Given the description of an element on the screen output the (x, y) to click on. 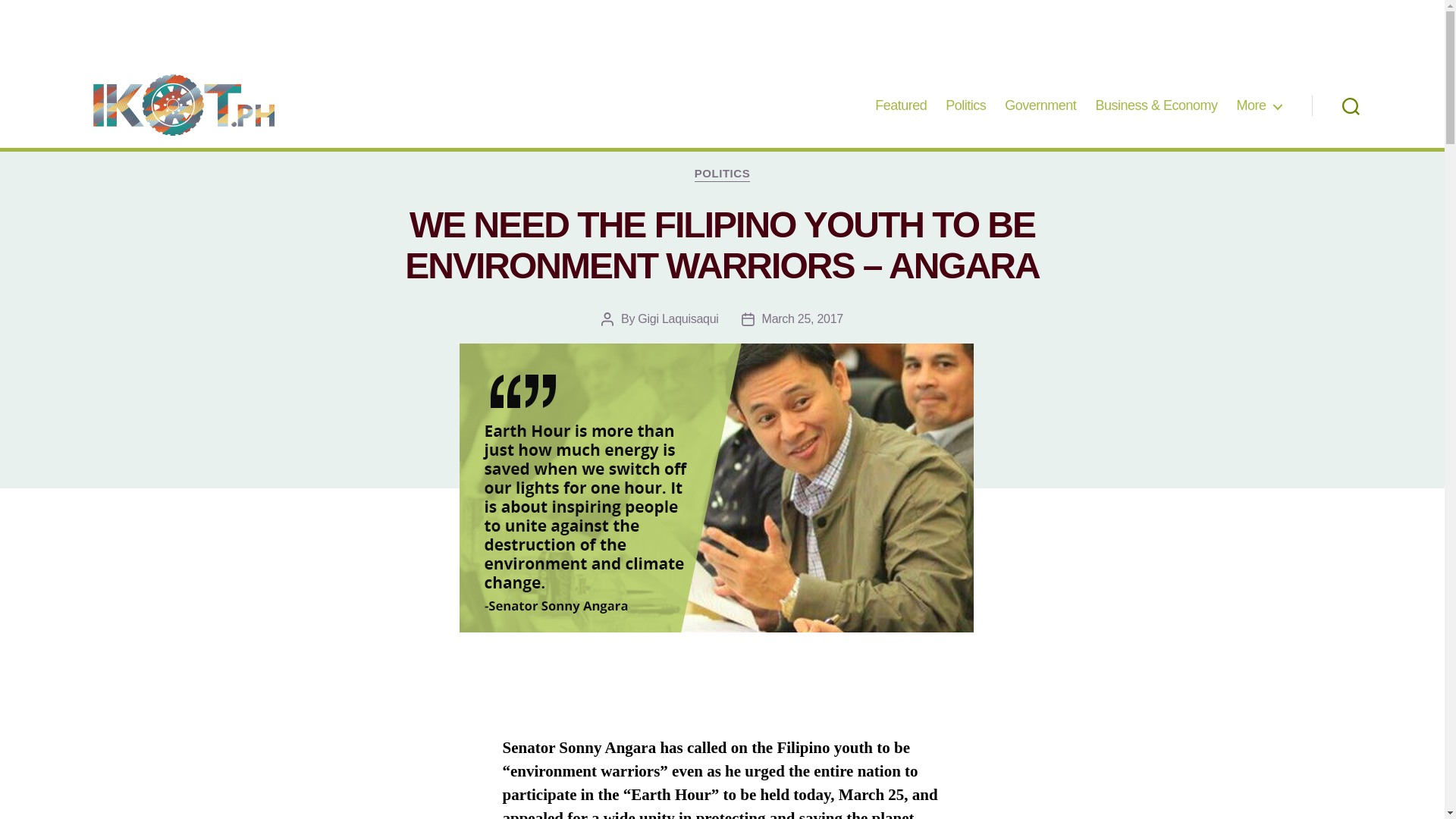
Gigi Laquisaqui (677, 318)
Government (1039, 105)
More (1258, 105)
POLITICS (722, 174)
March 25, 2017 (802, 318)
Politics (964, 105)
Featured (900, 105)
